Given the description of an element on the screen output the (x, y) to click on. 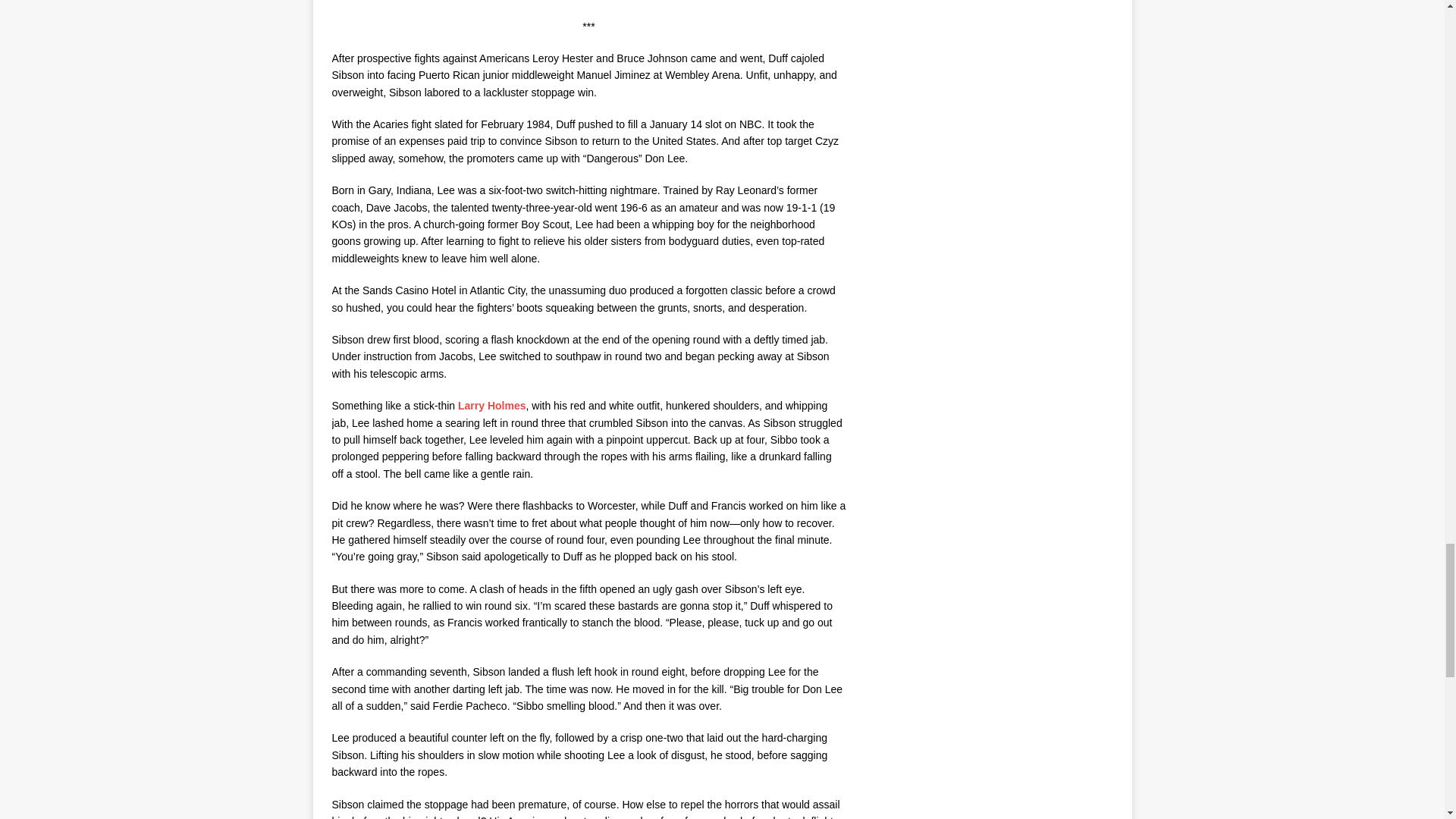
Larry Holmes (491, 405)
